Given the description of an element on the screen output the (x, y) to click on. 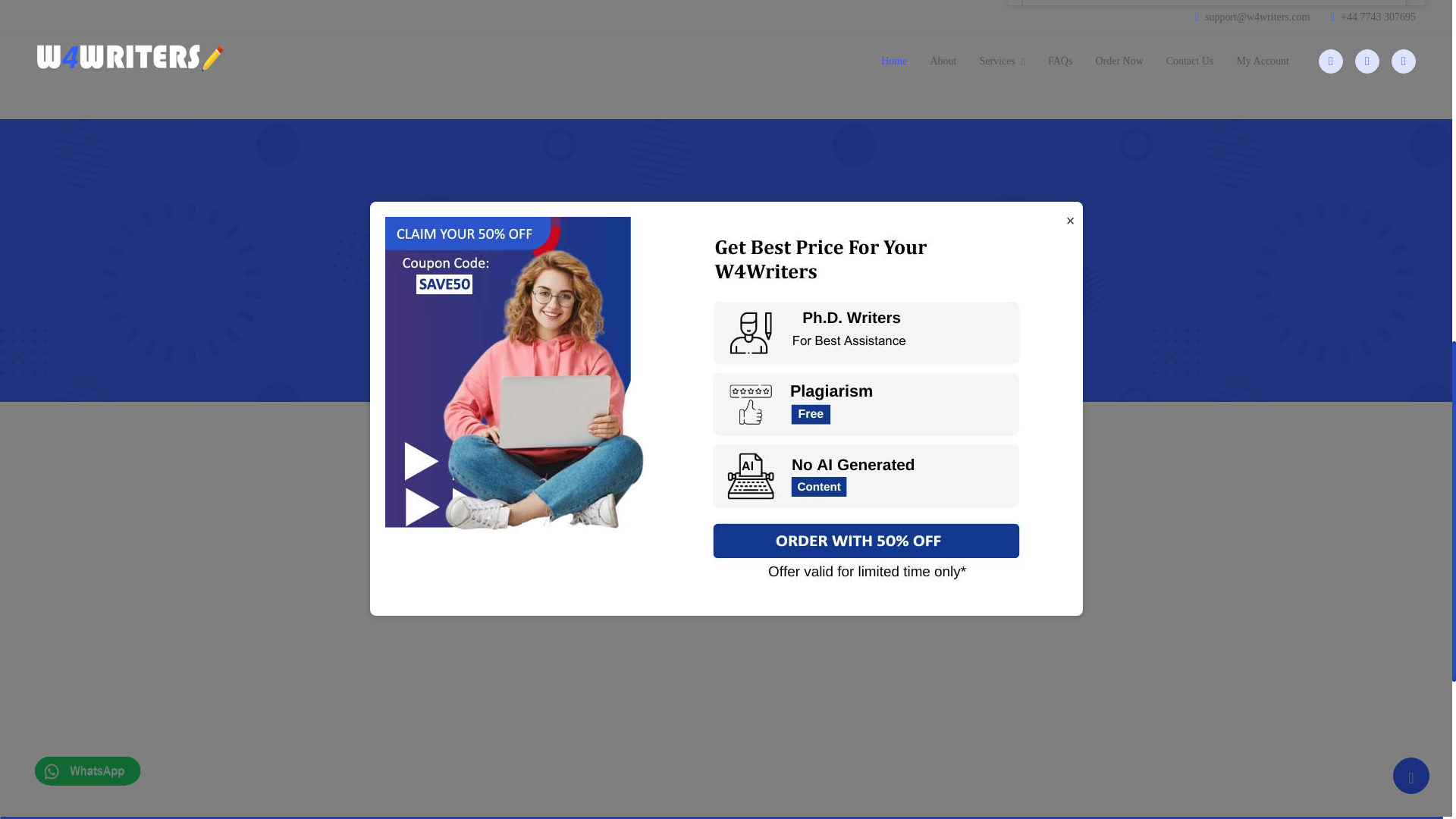
Read More (1070, 574)
Read More (1070, 306)
Read More (1070, 426)
Read More (1070, 680)
Read More (1070, 187)
Read More (1070, 81)
